Given the description of an element on the screen output the (x, y) to click on. 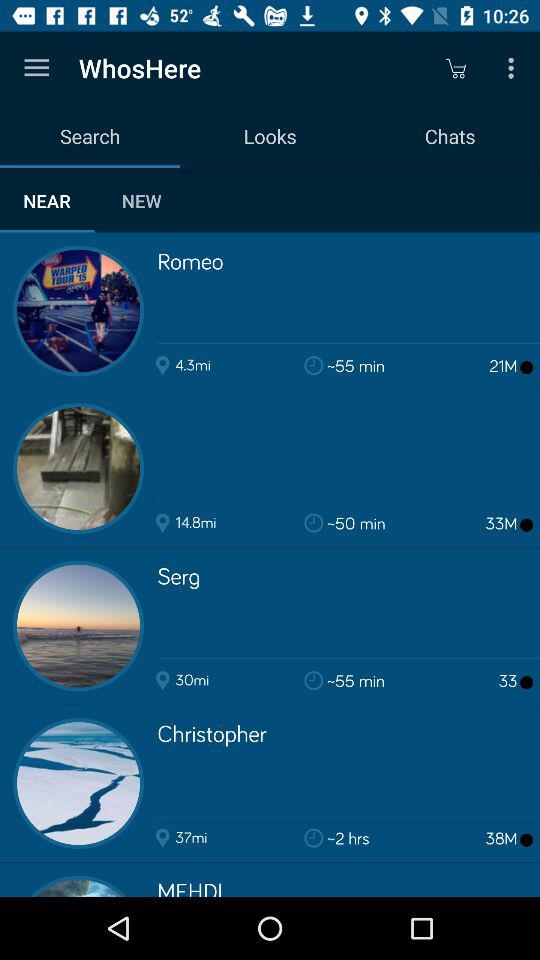
choose item to the right of the looks icon (455, 67)
